Given the description of an element on the screen output the (x, y) to click on. 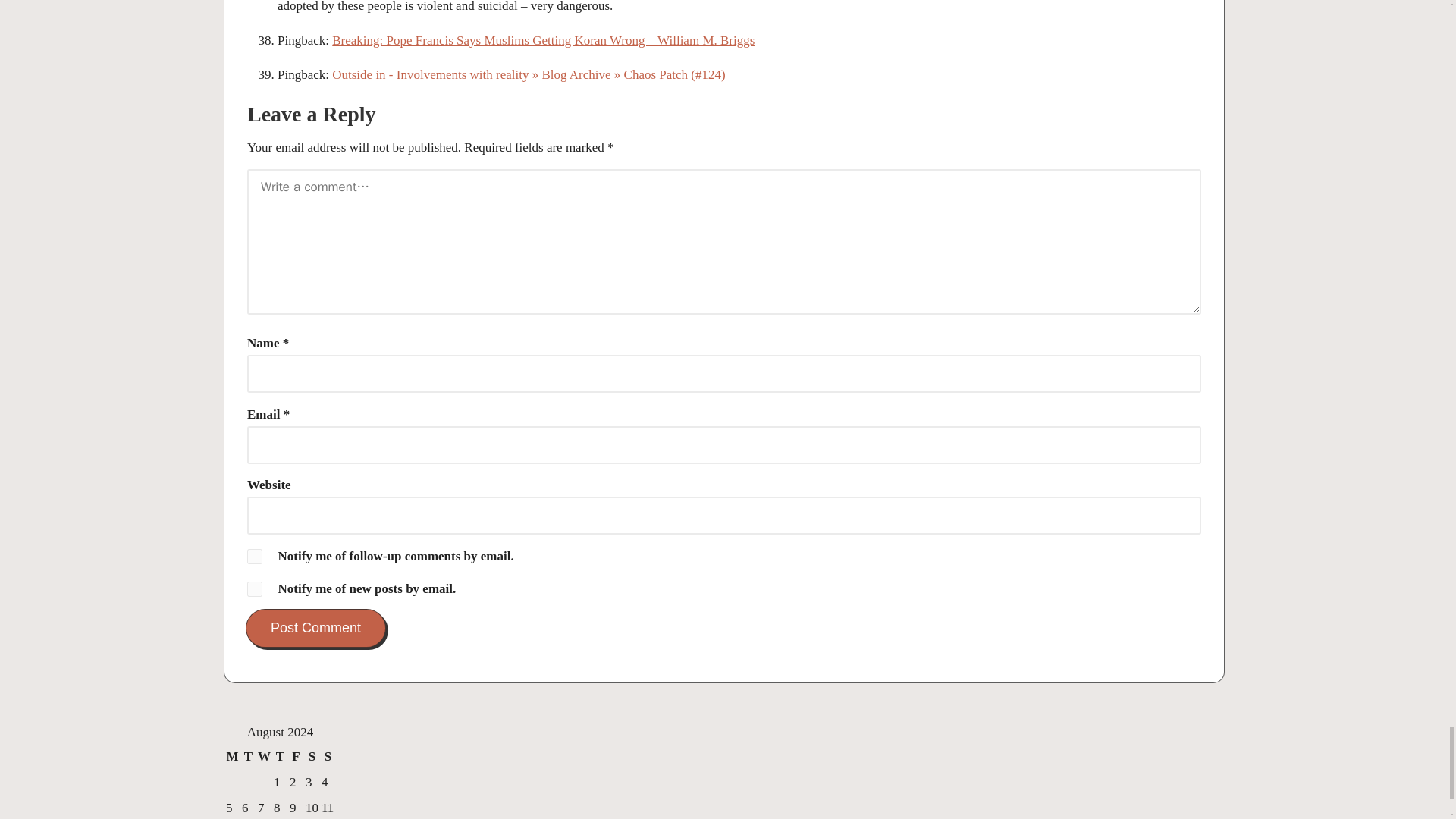
Post Comment (315, 628)
subscribe (254, 589)
subscribe (254, 556)
